Given the description of an element on the screen output the (x, y) to click on. 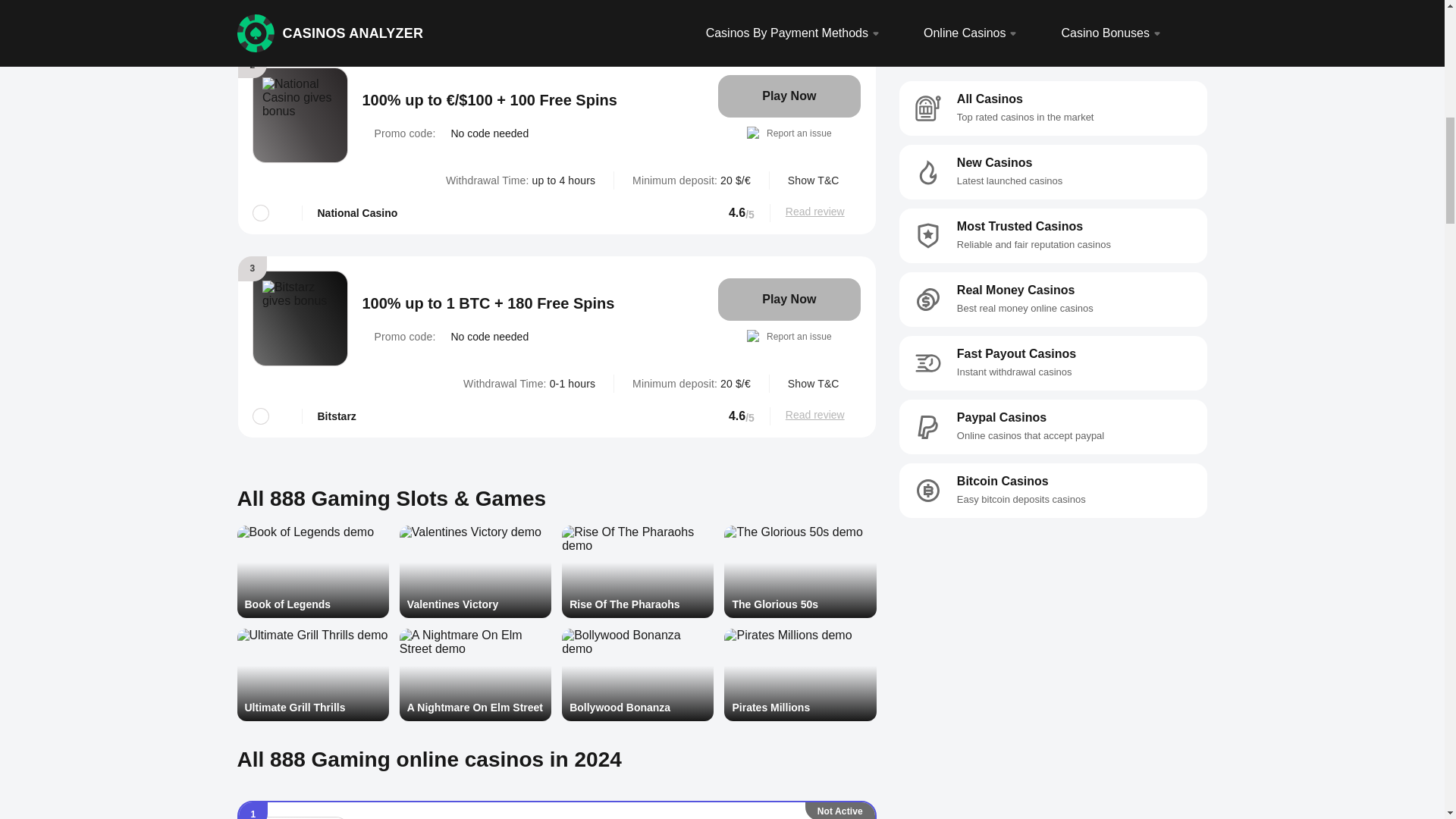
National Casino (299, 114)
Bitstarz (299, 317)
